Given the description of an element on the screen output the (x, y) to click on. 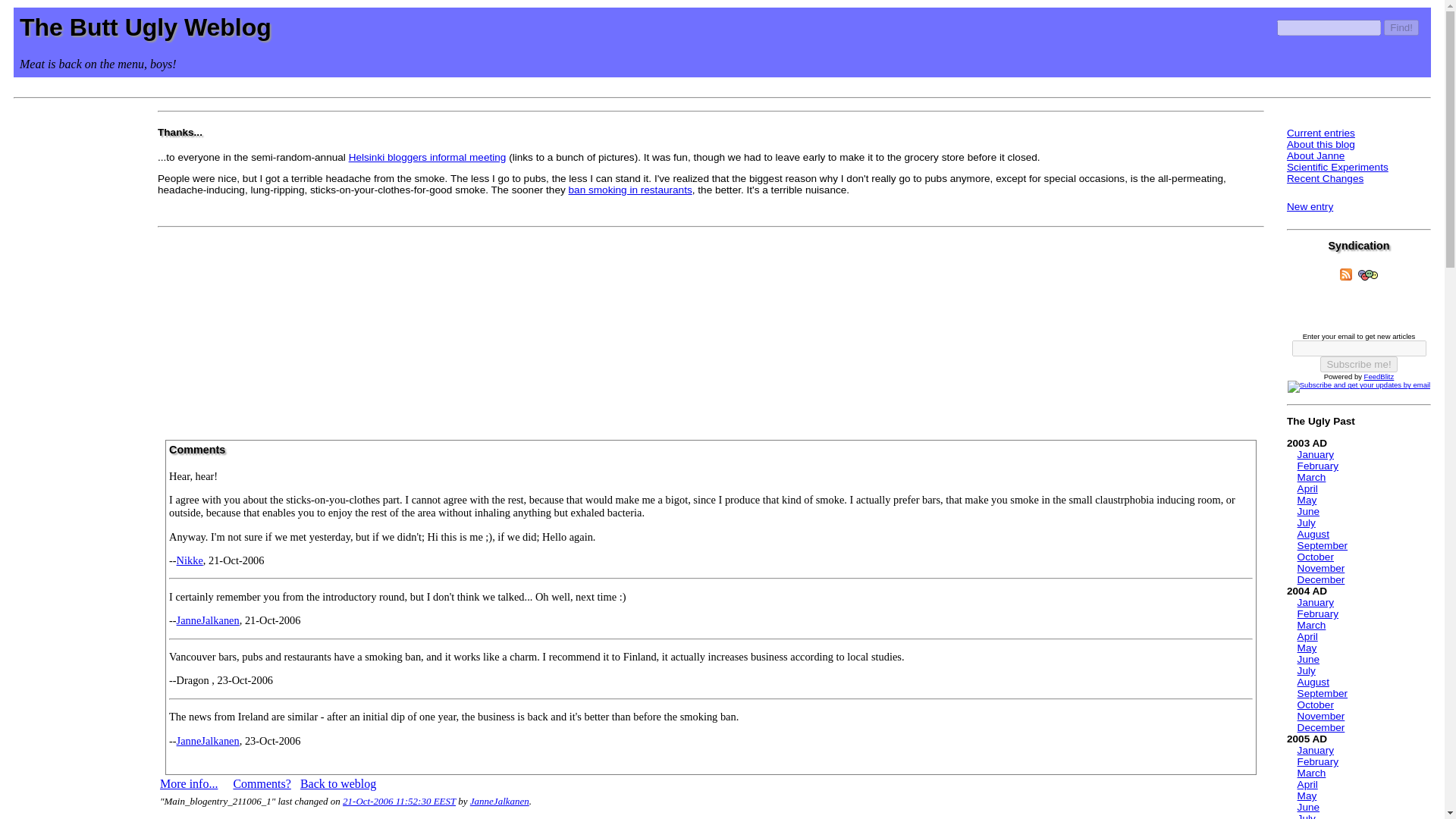
January (1315, 602)
New entry (1310, 206)
Find! (1401, 27)
Back to weblog (337, 783)
December (1321, 579)
Subscribe me! (1358, 364)
September (1322, 545)
May (1307, 647)
Aggregate the RSS feed (1345, 274)
JanneJalkanen (499, 800)
JanneJalkanen (208, 620)
March (1311, 624)
Find! (1401, 27)
My FOAF description. (1367, 275)
21-Oct-2006 11:52:30 EEST (398, 800)
